Given the description of an element on the screen output the (x, y) to click on. 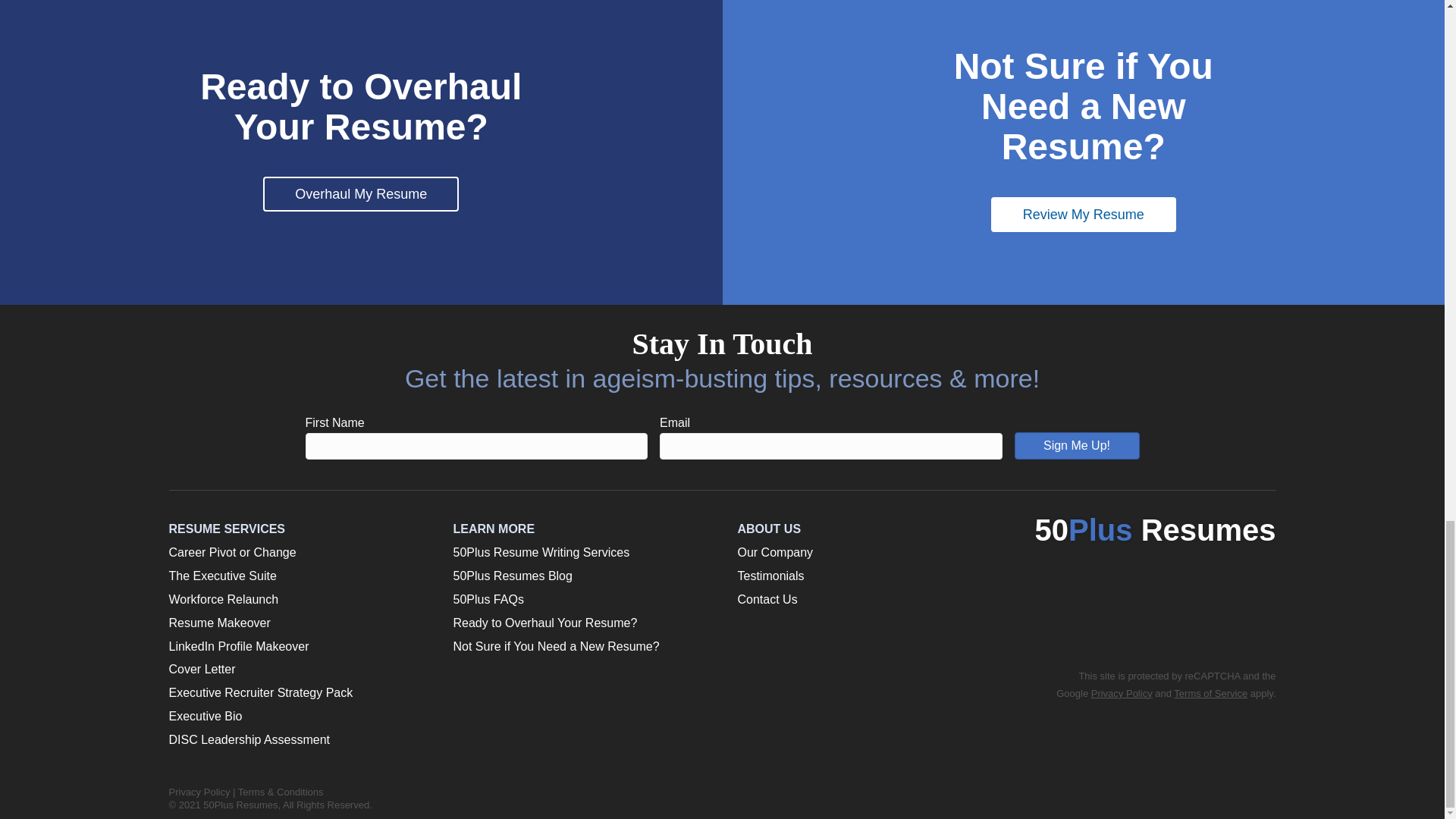
The Executive Suite (222, 575)
Review My Resume (1083, 214)
Workforce Relaunch (223, 599)
Sign Me Up! (1077, 445)
Career Pivot or Change (231, 552)
secure-payments (1149, 625)
Sign Me Up! (1077, 445)
Overhaul My Resume (360, 193)
accepted-payment-methods (1183, 586)
